Given the description of an element on the screen output the (x, y) to click on. 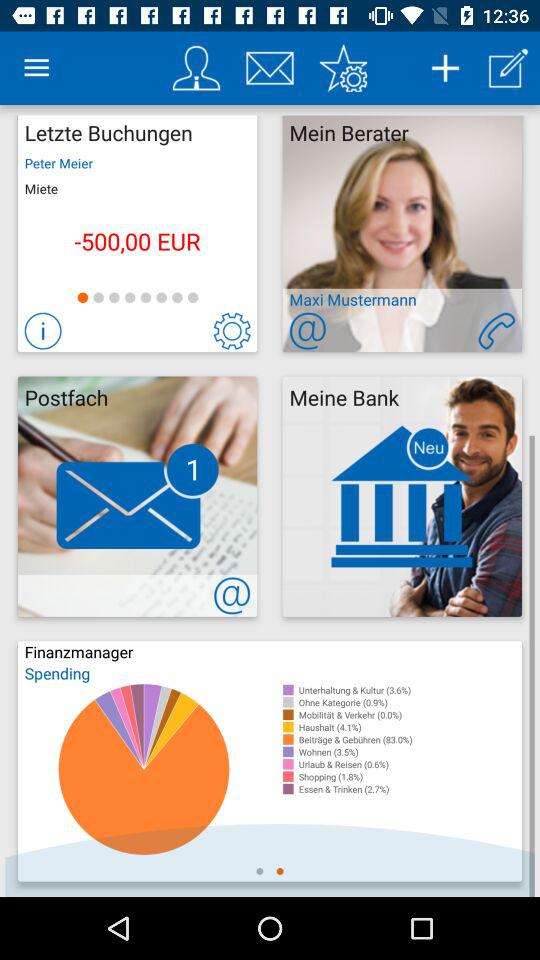
contact through email (269, 67)
